Given the description of an element on the screen output the (x, y) to click on. 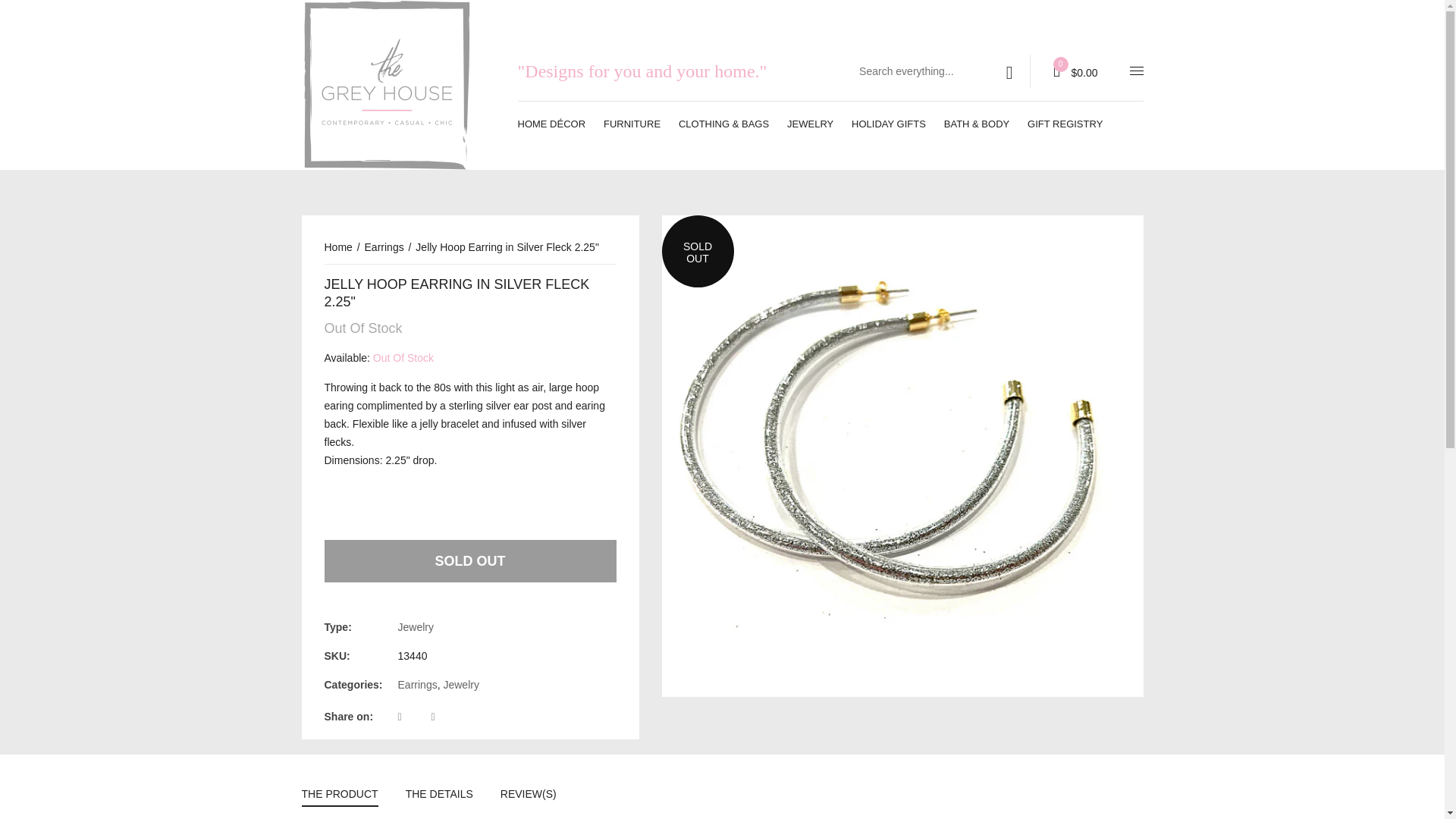
Share this post on Facebook (412, 716)
Jewelry (415, 626)
Earrings (389, 246)
